Given the description of an element on the screen output the (x, y) to click on. 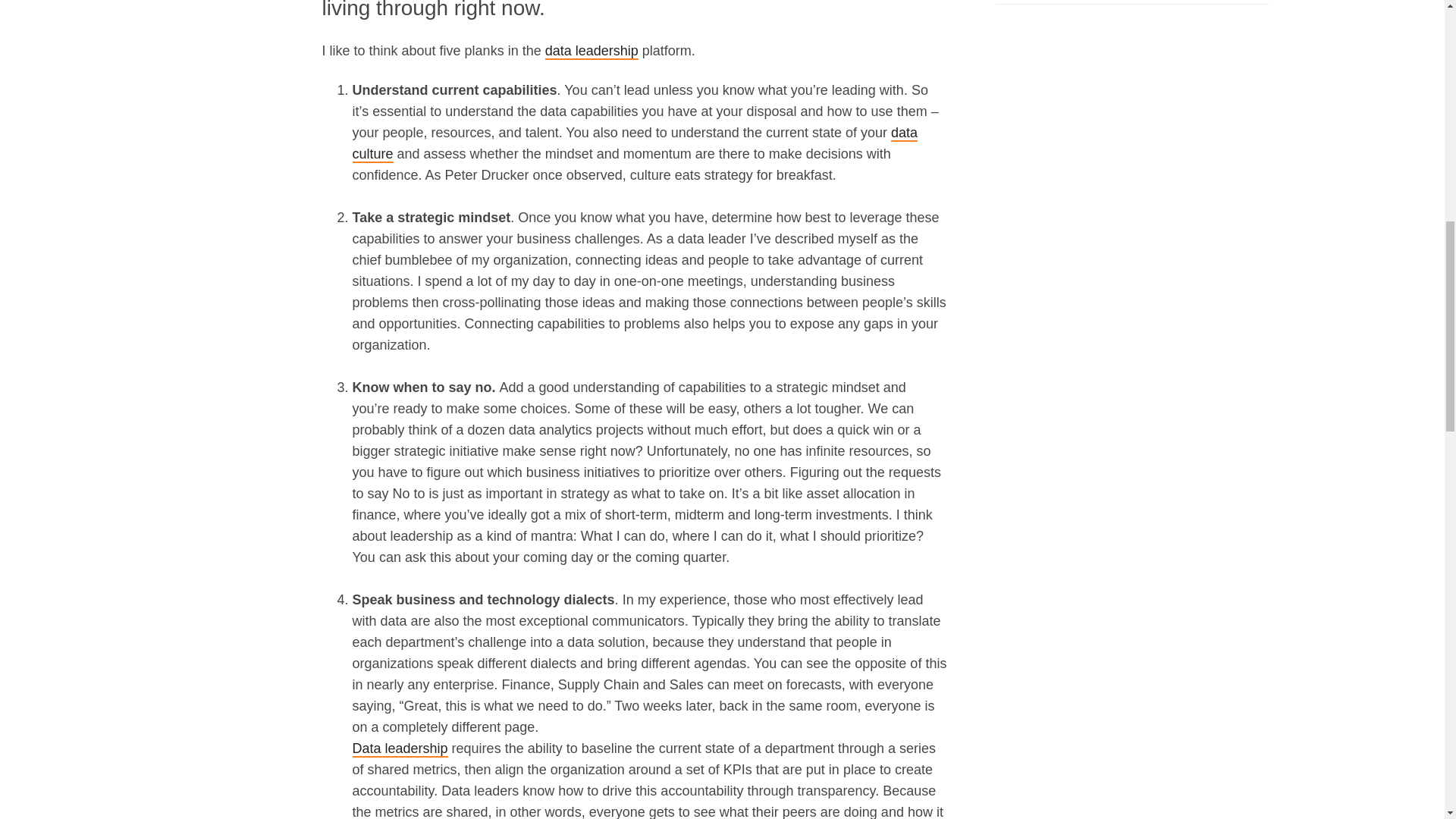
data leadership (591, 51)
data culture (634, 143)
Data leadership (399, 749)
